Given the description of an element on the screen output the (x, y) to click on. 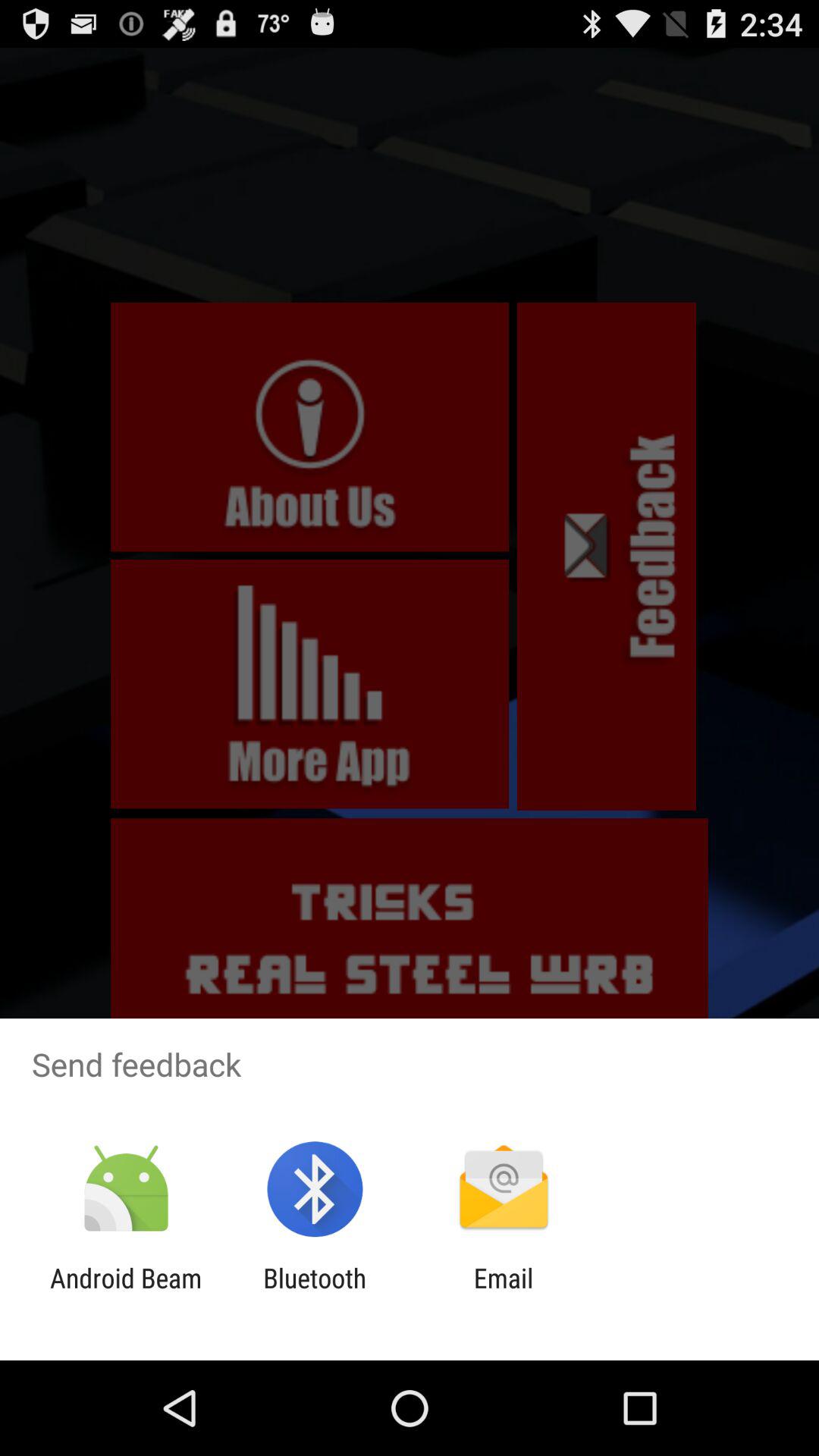
scroll until email item (503, 1293)
